Given the description of an element on the screen output the (x, y) to click on. 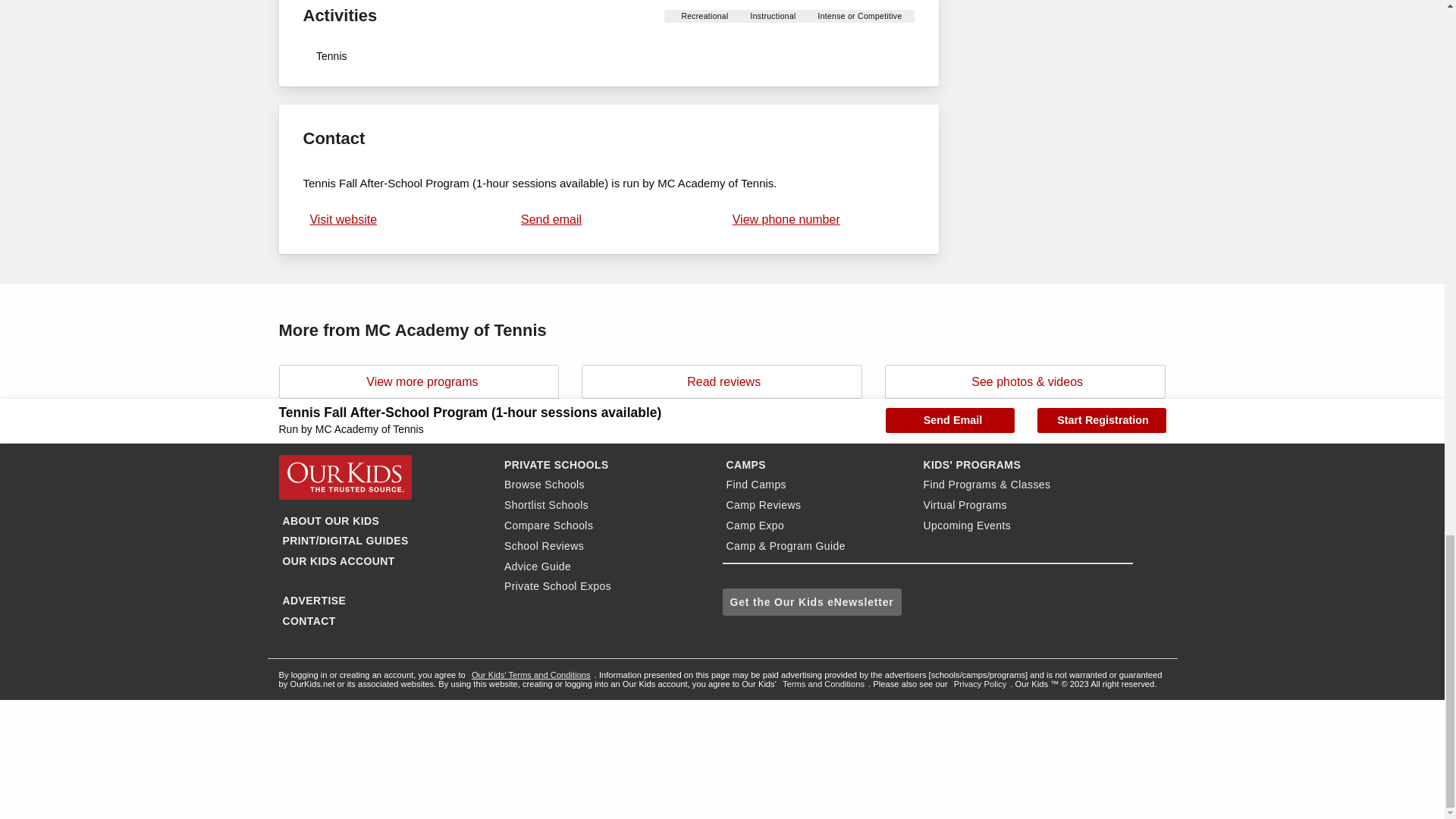
Chat with us (113, 757)
